Given the description of an element on the screen output the (x, y) to click on. 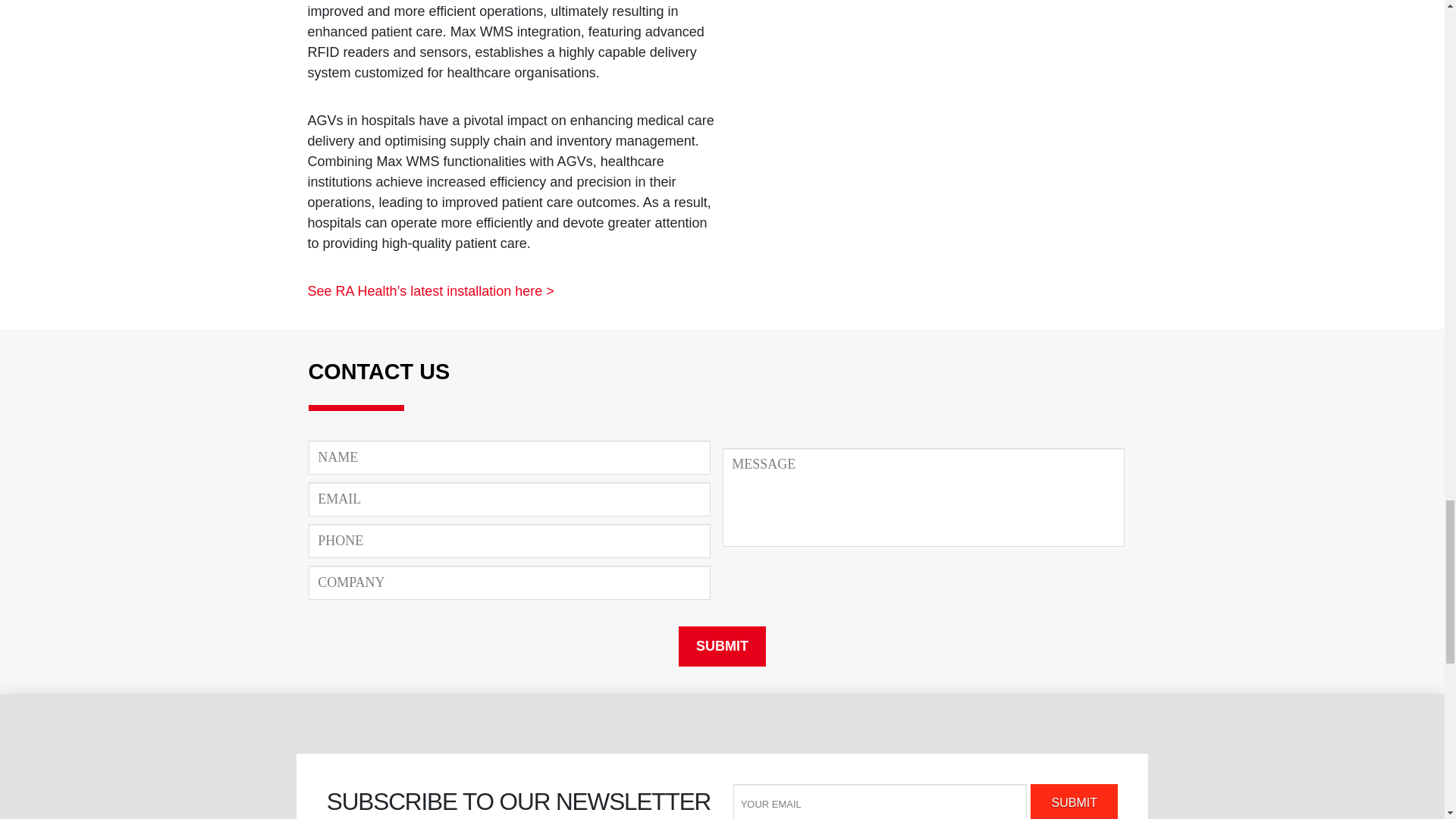
Submit (721, 646)
SUBMIT (1074, 801)
Submit (721, 646)
SUBMIT (1074, 801)
